Given the description of an element on the screen output the (x, y) to click on. 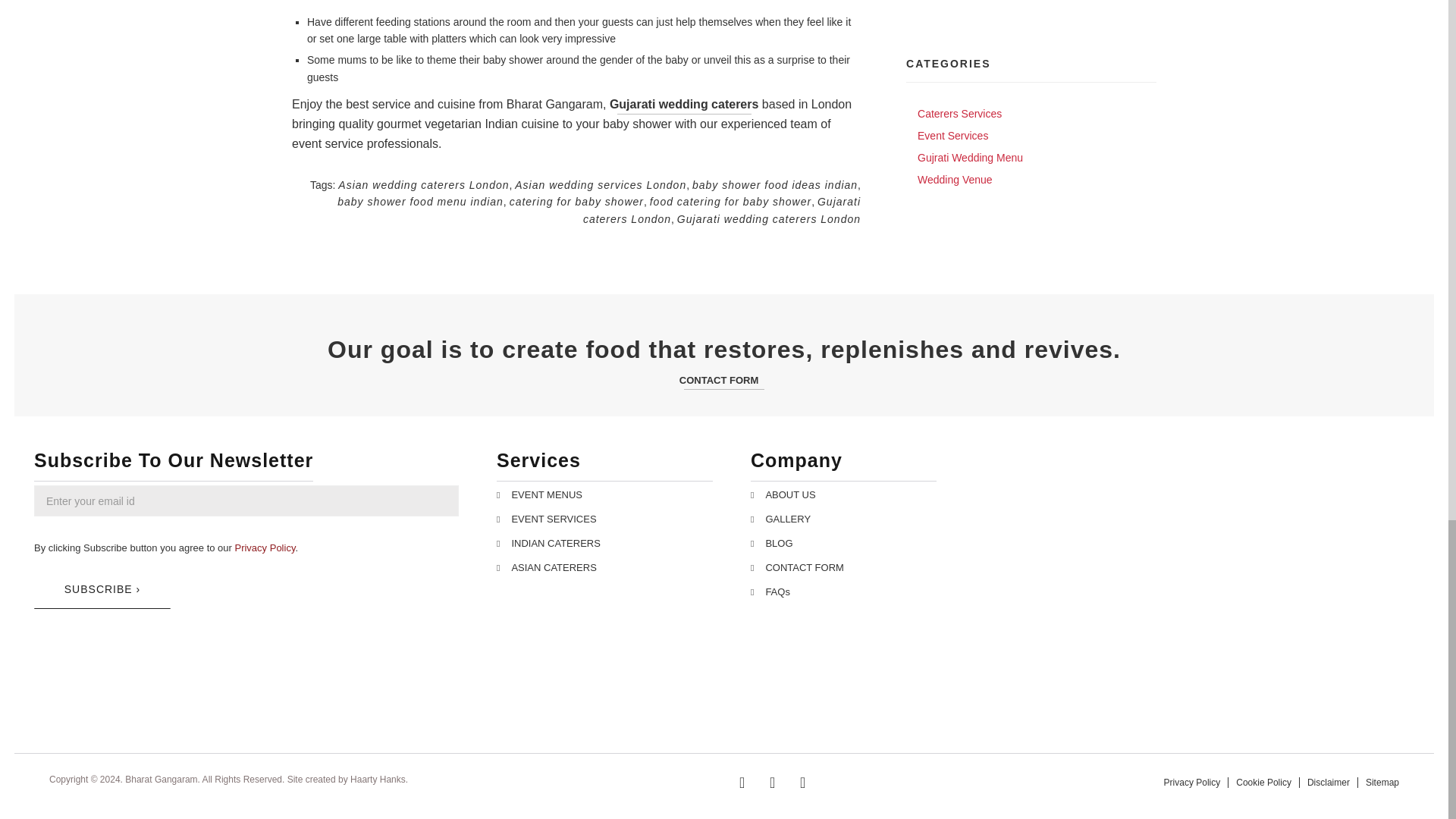
award-logo (90, 689)
